Given the description of an element on the screen output the (x, y) to click on. 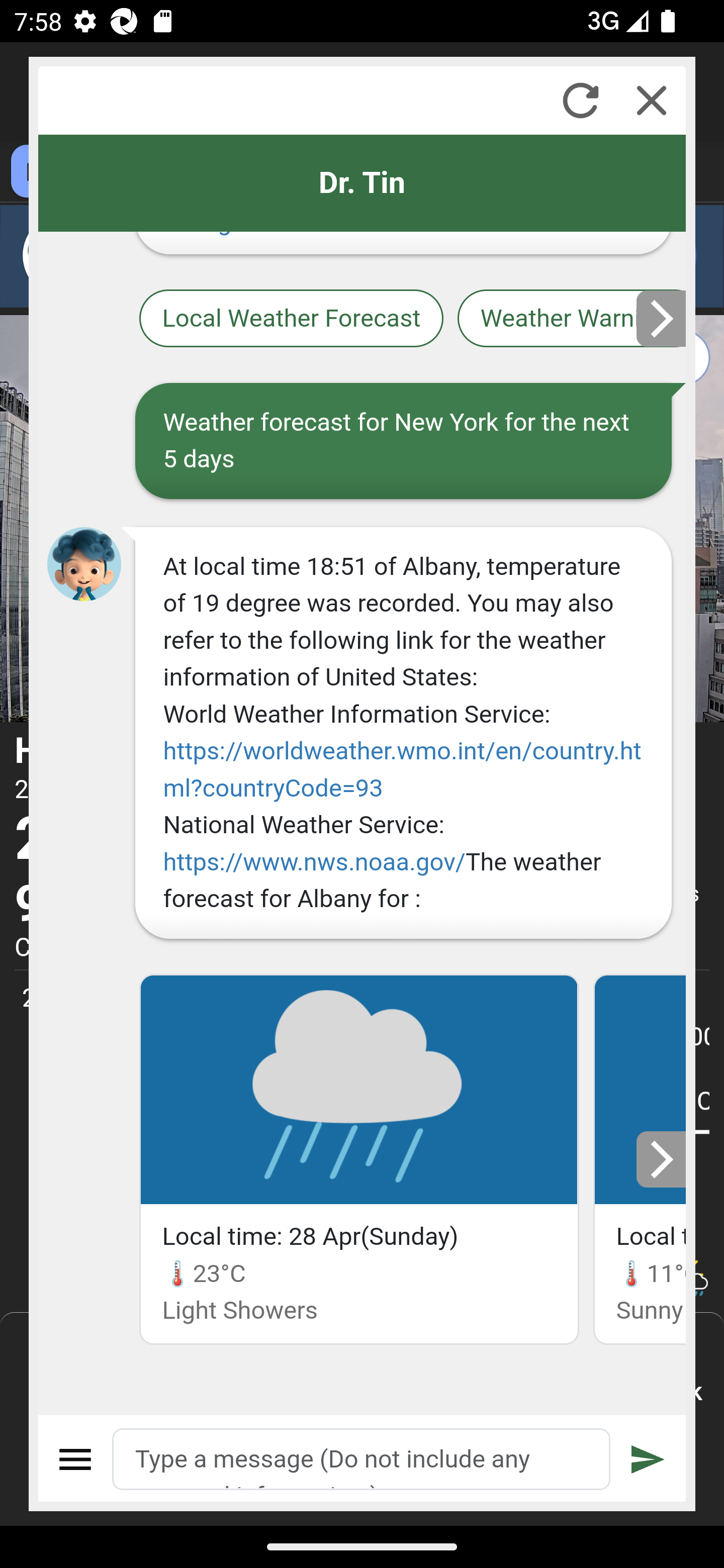
Refresh (580, 100)
Close (651, 100)
Local Weather Forecast (291, 319)
Weather Warnings (571, 319)
Next slide (661, 318)
https://www.nws.noaa.gov/ (314, 861)
Next slide (661, 1159)
Menu (75, 1458)
Submit (648, 1458)
